Given the description of an element on the screen output the (x, y) to click on. 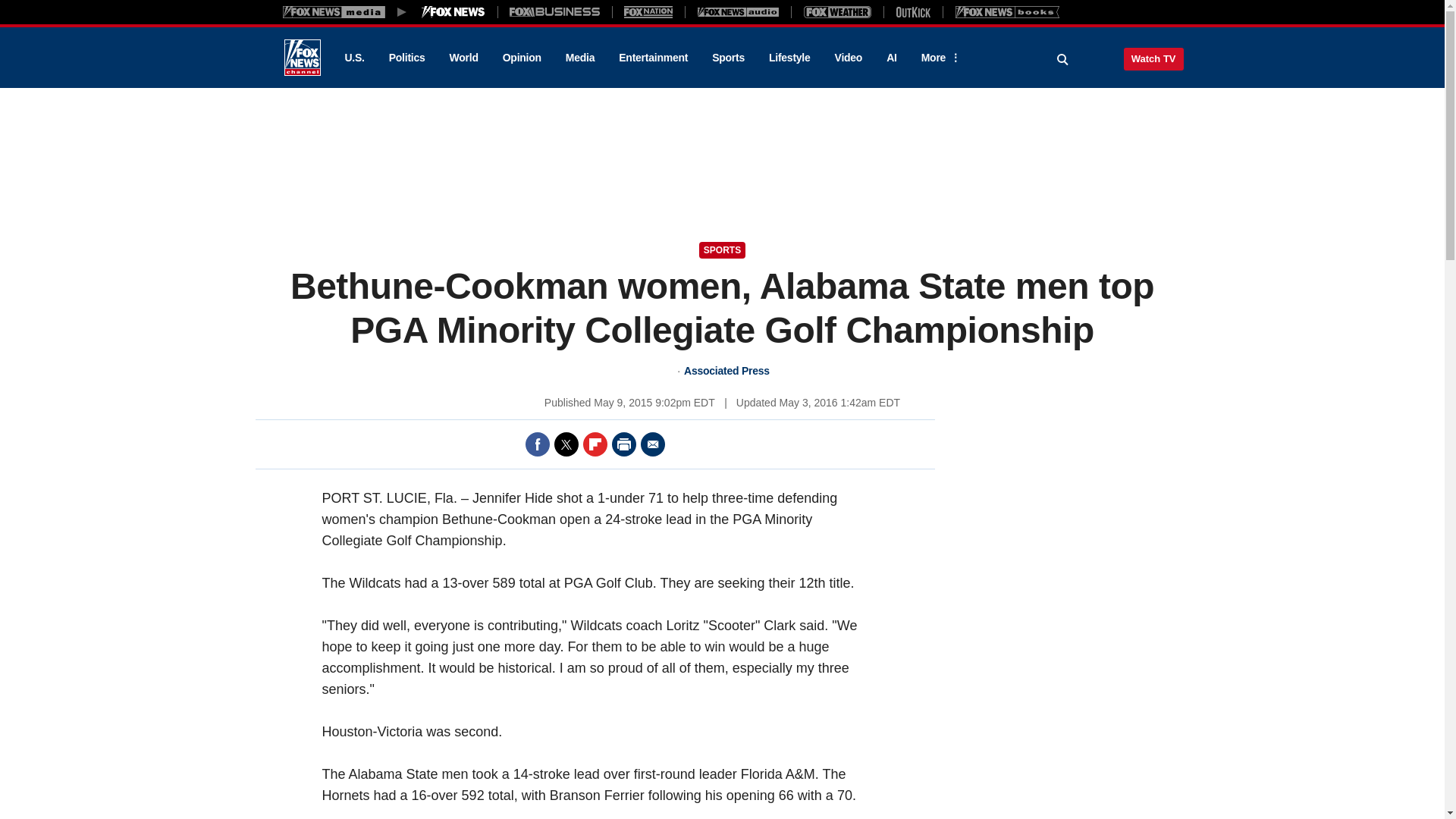
Politics (407, 57)
Fox News (301, 57)
World (464, 57)
Entertainment (653, 57)
More (938, 57)
Sports (728, 57)
Fox Nation (648, 11)
Fox Business (554, 11)
AI (891, 57)
Lifestyle (789, 57)
